Given the description of an element on the screen output the (x, y) to click on. 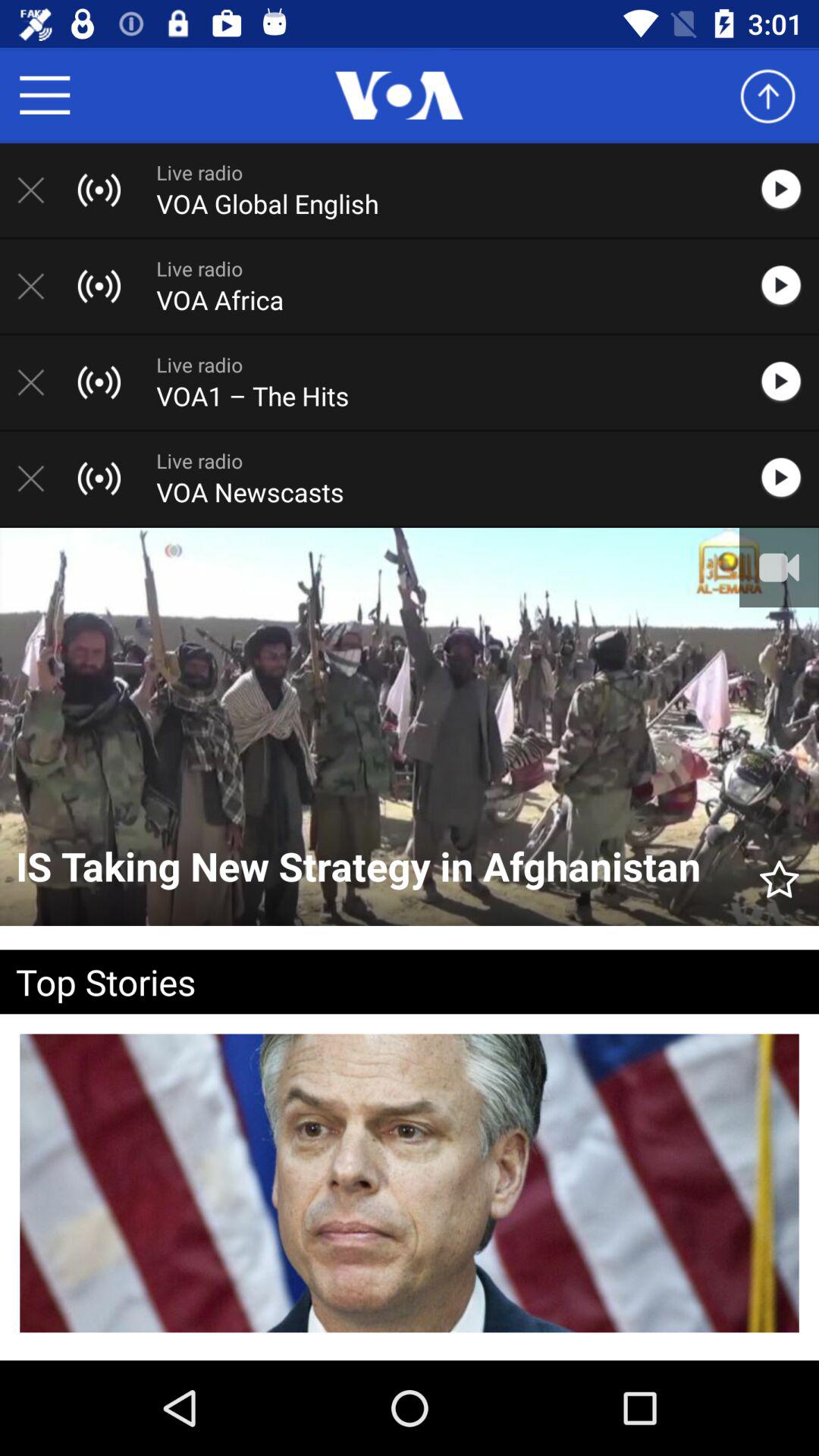
play mode (789, 381)
